Given the description of an element on the screen output the (x, y) to click on. 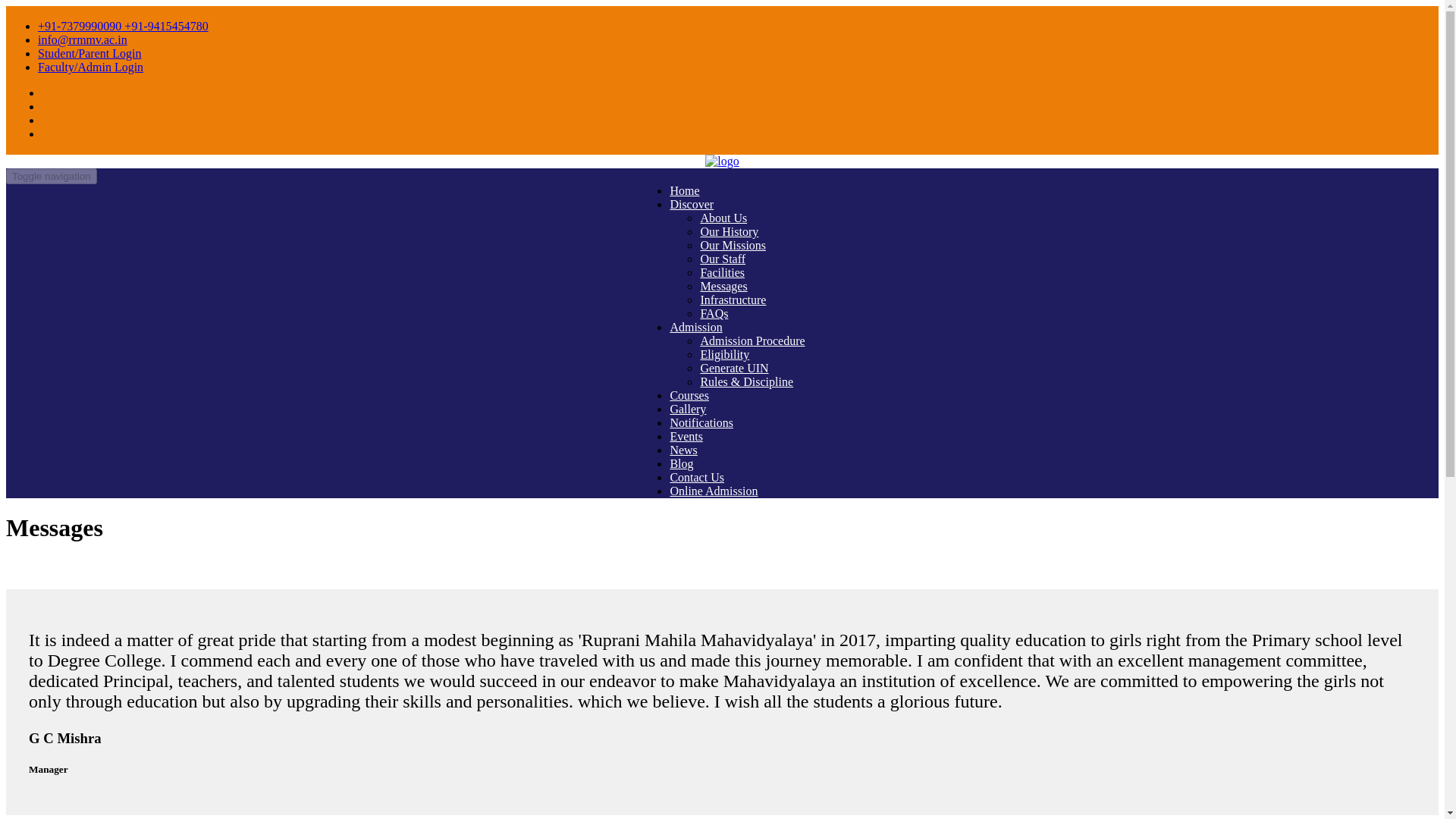
About Us (723, 217)
Toggle navigation (51, 176)
Generate UIN (734, 367)
Courses (689, 395)
Contact Us (696, 477)
Admission (695, 327)
Gallery (687, 408)
Online Admission (713, 490)
Facilities (722, 272)
Home (683, 190)
